Given the description of an element on the screen output the (x, y) to click on. 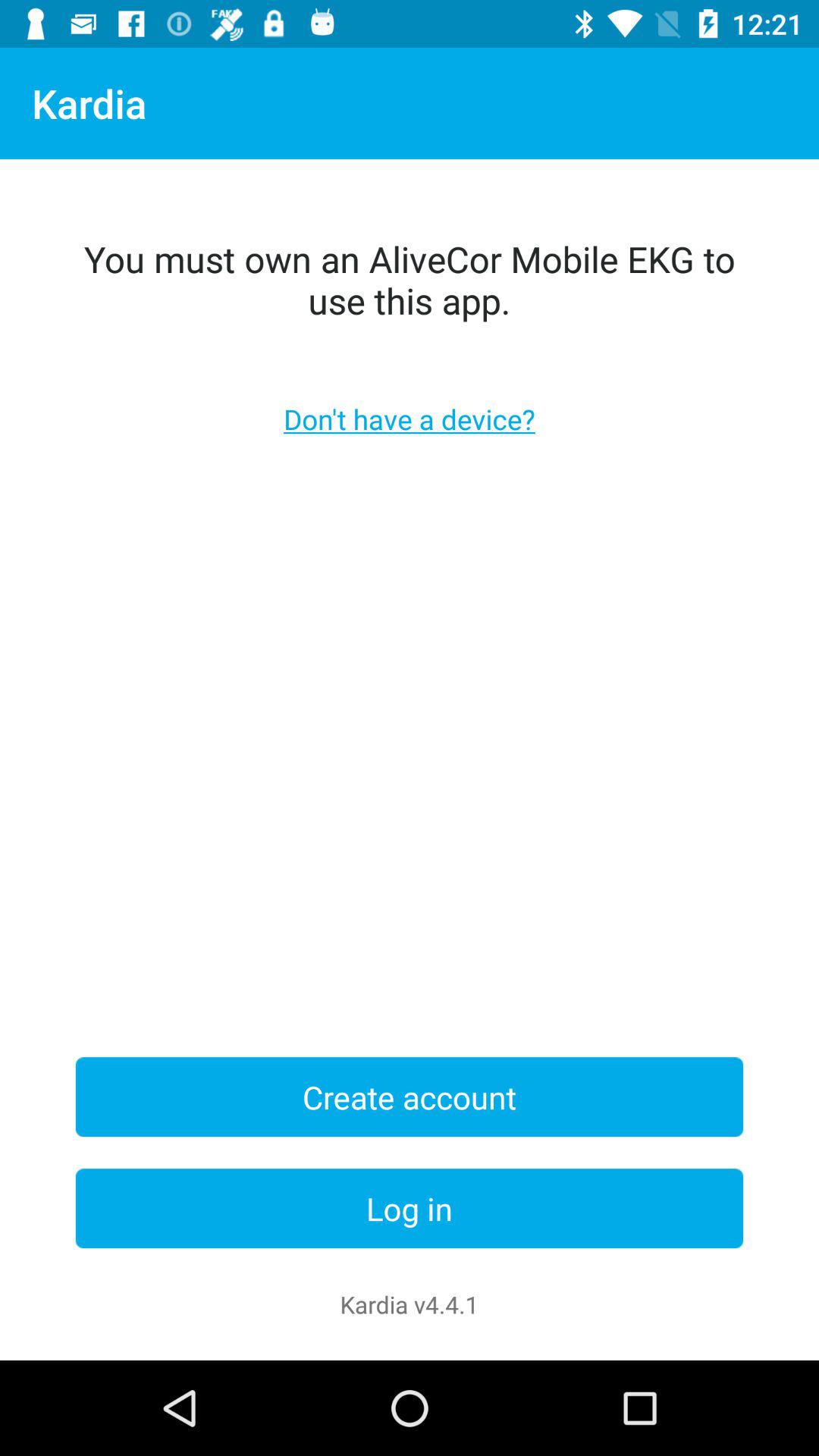
launch item above log in icon (409, 1096)
